Given the description of an element on the screen output the (x, y) to click on. 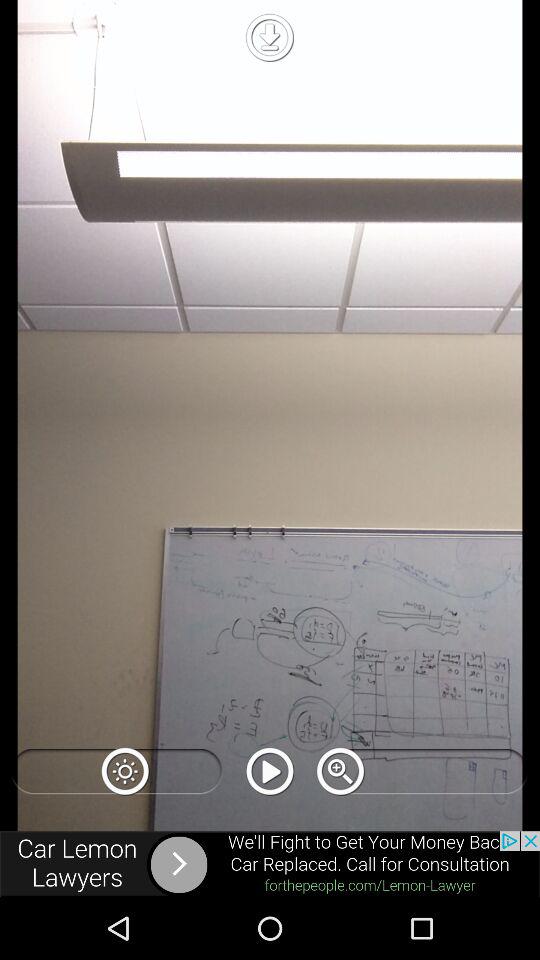
download (269, 37)
